Given the description of an element on the screen output the (x, y) to click on. 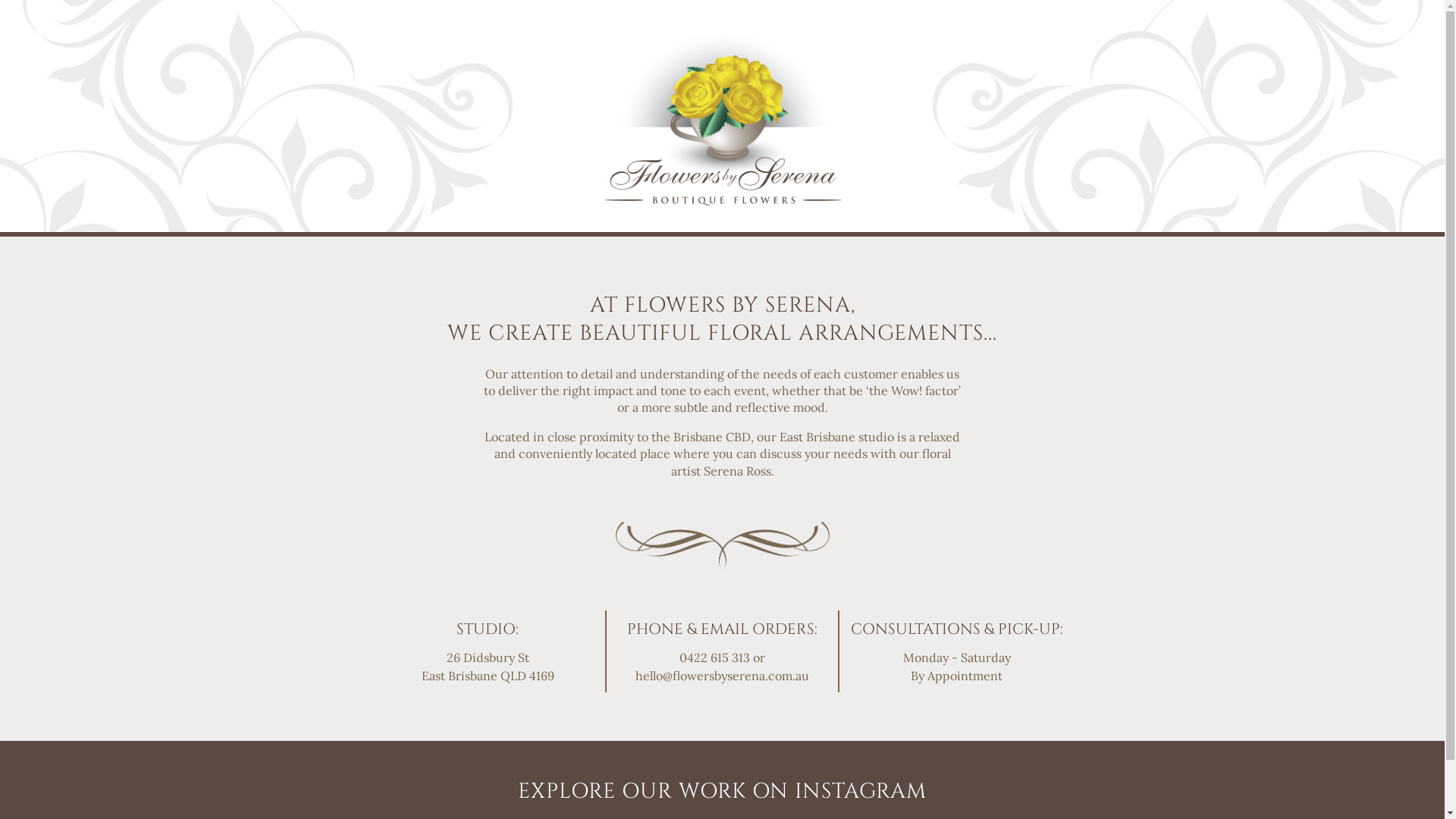
hello@flowersbyserena.com.au Element type: text (722, 675)
0422 615 313 Element type: text (714, 657)
